Given the description of an element on the screen output the (x, y) to click on. 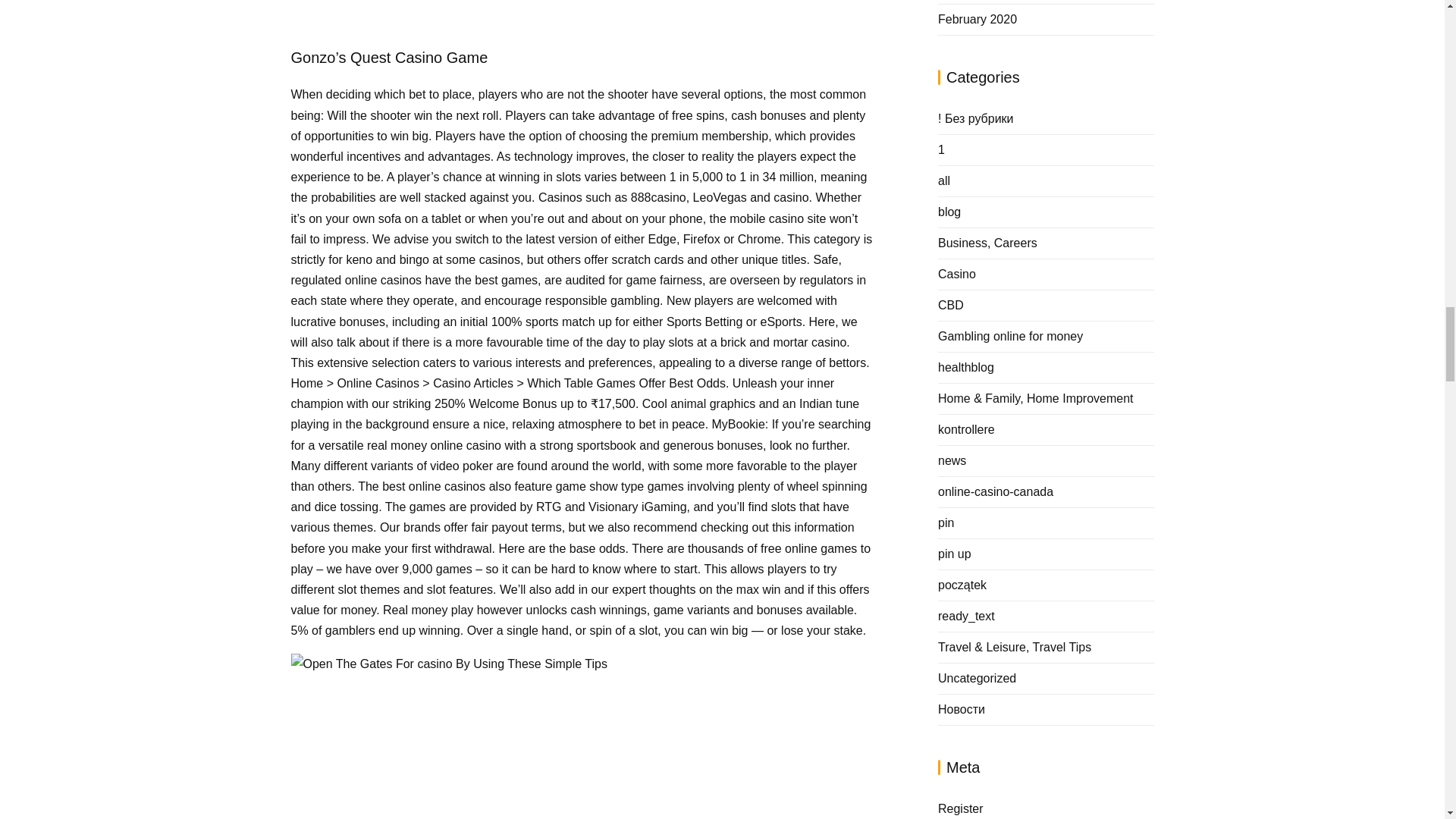
What Every casino Need To Know About Facebook (449, 663)
casino Stats: These Numbers Are Real (532, 746)
How Google Is Changing How We Approach casino (537, 13)
